Given the description of an element on the screen output the (x, y) to click on. 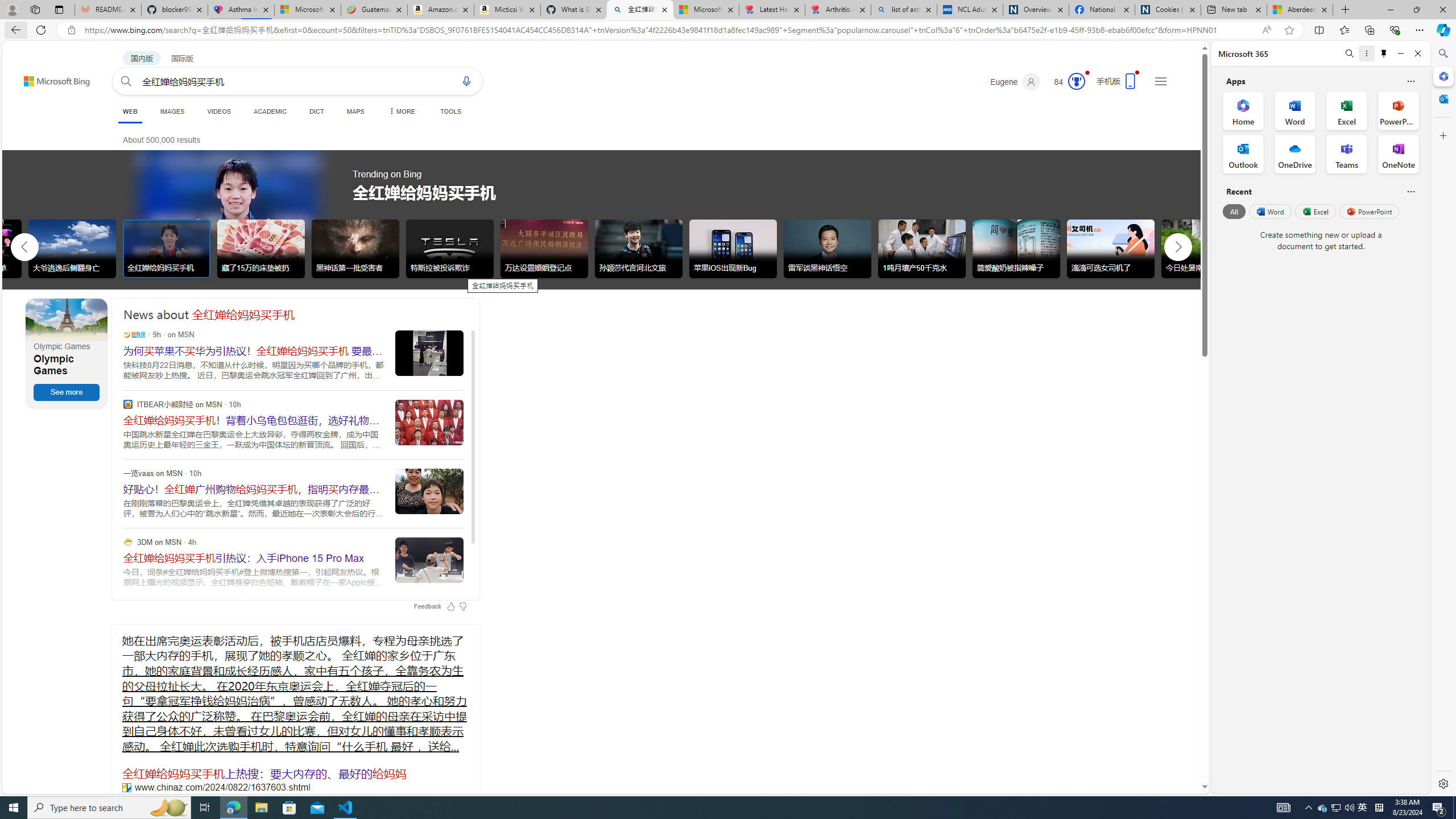
Word Office App (1295, 110)
Search more (1179, 753)
Arthritis: Ask Health Professionals (838, 9)
Excel Office App (1346, 110)
Microsoft-Report a Concern to Bing (307, 9)
